Given the description of an element on the screen output the (x, y) to click on. 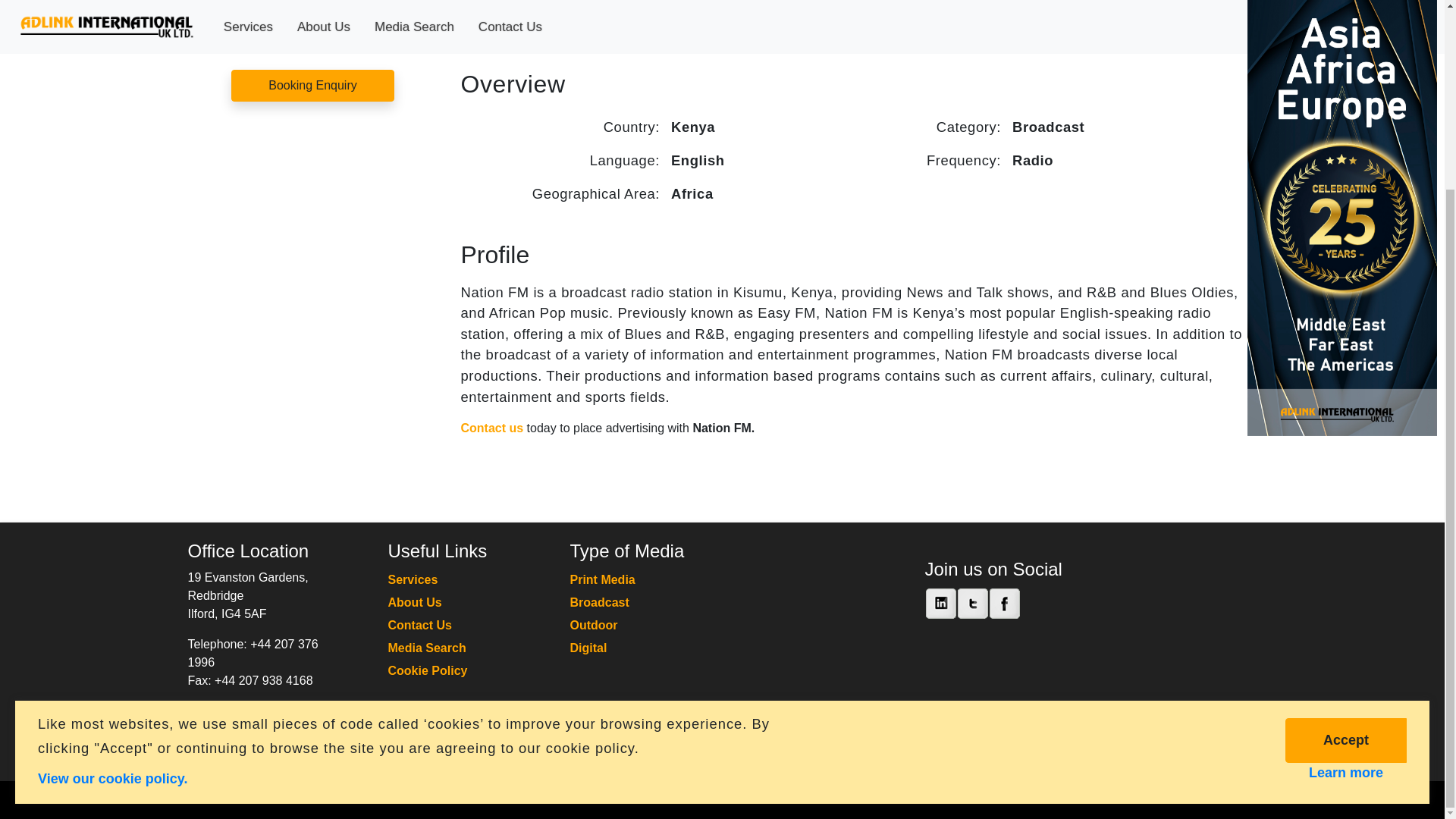
Cookie Policy (427, 670)
Outdoor (593, 625)
Digital (588, 647)
Accept (1345, 502)
Opens Media Search Page (426, 647)
Open Cookies Page (112, 540)
Services (413, 579)
Contact us (492, 427)
Print Media (602, 579)
Contact Us (419, 625)
View on Google Maps (250, 710)
Booking Enquiry (312, 85)
View our cookie policy. (112, 540)
Media Search (426, 647)
Open Outdoor Page (593, 625)
